Given the description of an element on the screen output the (x, y) to click on. 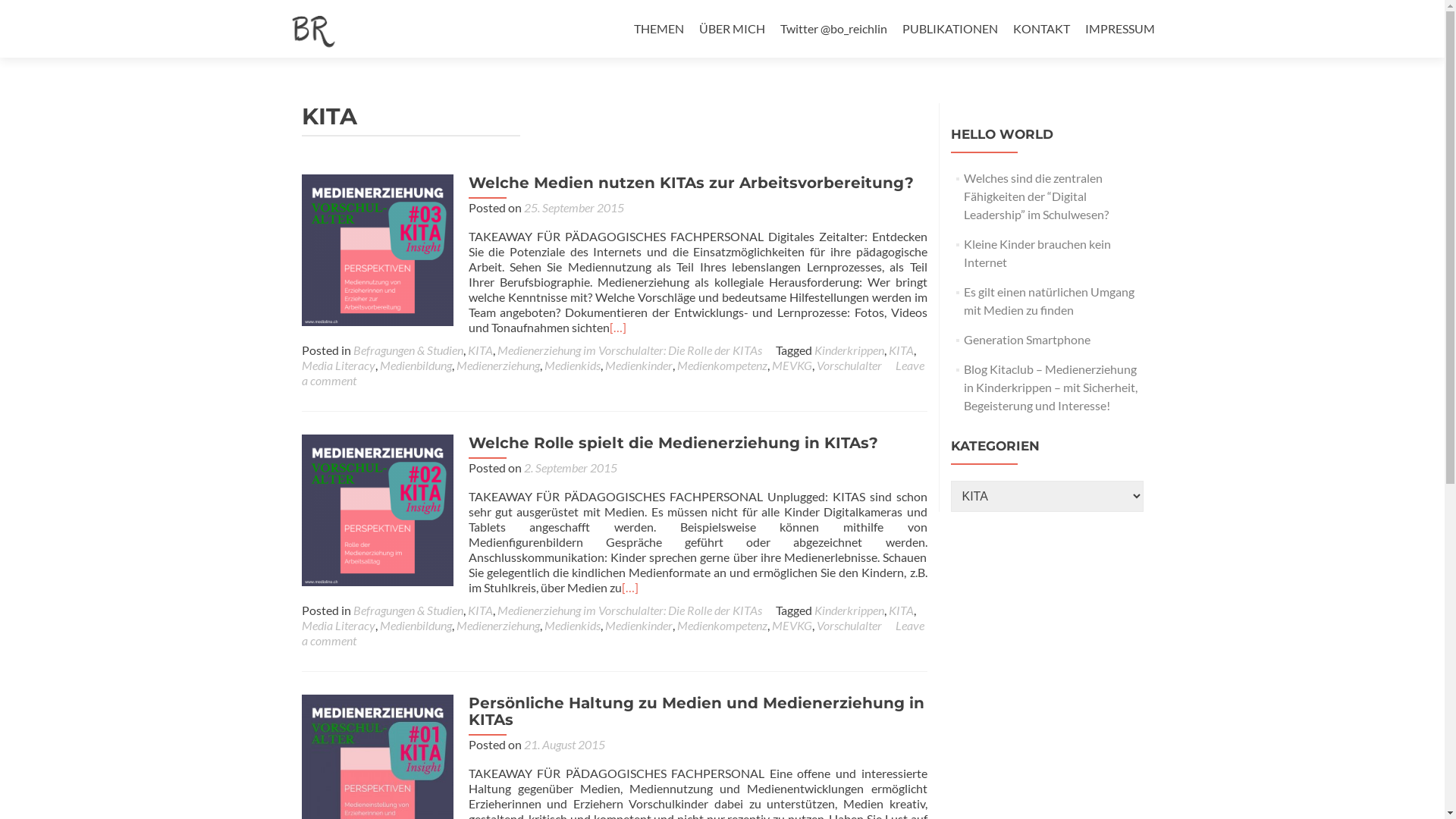
Vorschulalter Element type: text (848, 364)
Leave a comment Element type: text (612, 372)
21. August 2015 Element type: text (563, 744)
Medienkompetenz Element type: text (721, 625)
KONTAKT Element type: text (1041, 28)
Kinderkrippen Element type: text (849, 349)
25. September 2015 Element type: text (573, 207)
MEVKG Element type: text (791, 625)
Medienerziehung im Vorschulalter: Die Rolle der KITAs Element type: text (629, 609)
Welche Rolle spielt die Medienerziehung in KITAs? Element type: hover (377, 508)
Medienerziehung im Vorschulalter: Die Rolle der KITAs Element type: text (629, 349)
KITA Element type: text (479, 609)
Medienkompetenz Element type: text (721, 364)
Welche Medien nutzen KITAs zur Arbeitsvorbereitung? Element type: hover (377, 248)
2. September 2015 Element type: text (569, 467)
Twitter @bo_reichlin Element type: text (832, 28)
Kinderkrippen Element type: text (849, 609)
Befragungen & Studien Element type: text (408, 349)
Medienerziehung Element type: text (497, 364)
KITA Element type: text (900, 349)
THEMEN Element type: text (658, 28)
IMPRESSUM Element type: text (1119, 28)
Generation Smartphone Element type: text (1026, 339)
PUBLIKATIONEN Element type: text (949, 28)
KITA Element type: text (900, 609)
Welche Rolle spielt die Medienerziehung in KITAs? Element type: text (673, 442)
Vorschulalter Element type: text (848, 625)
Medienerziehung Element type: text (497, 625)
Kleine Kinder brauchen kein Internet Element type: text (1036, 252)
Medienbildung Element type: text (415, 364)
Befragungen & Studien Element type: text (408, 609)
Medienkids Element type: text (572, 625)
Media Literacy Element type: text (338, 625)
Medienkinder Element type: text (638, 625)
MEVKG Element type: text (791, 364)
Media Literacy Element type: text (338, 364)
Medienkids Element type: text (572, 364)
Leave a comment Element type: text (612, 632)
KITA Element type: text (479, 349)
Welche Medien nutzen KITAs zur Arbeitsvorbereitung? Element type: text (690, 182)
Medienbildung Element type: text (415, 625)
Medienkinder Element type: text (638, 364)
